Given the description of an element on the screen output the (x, y) to click on. 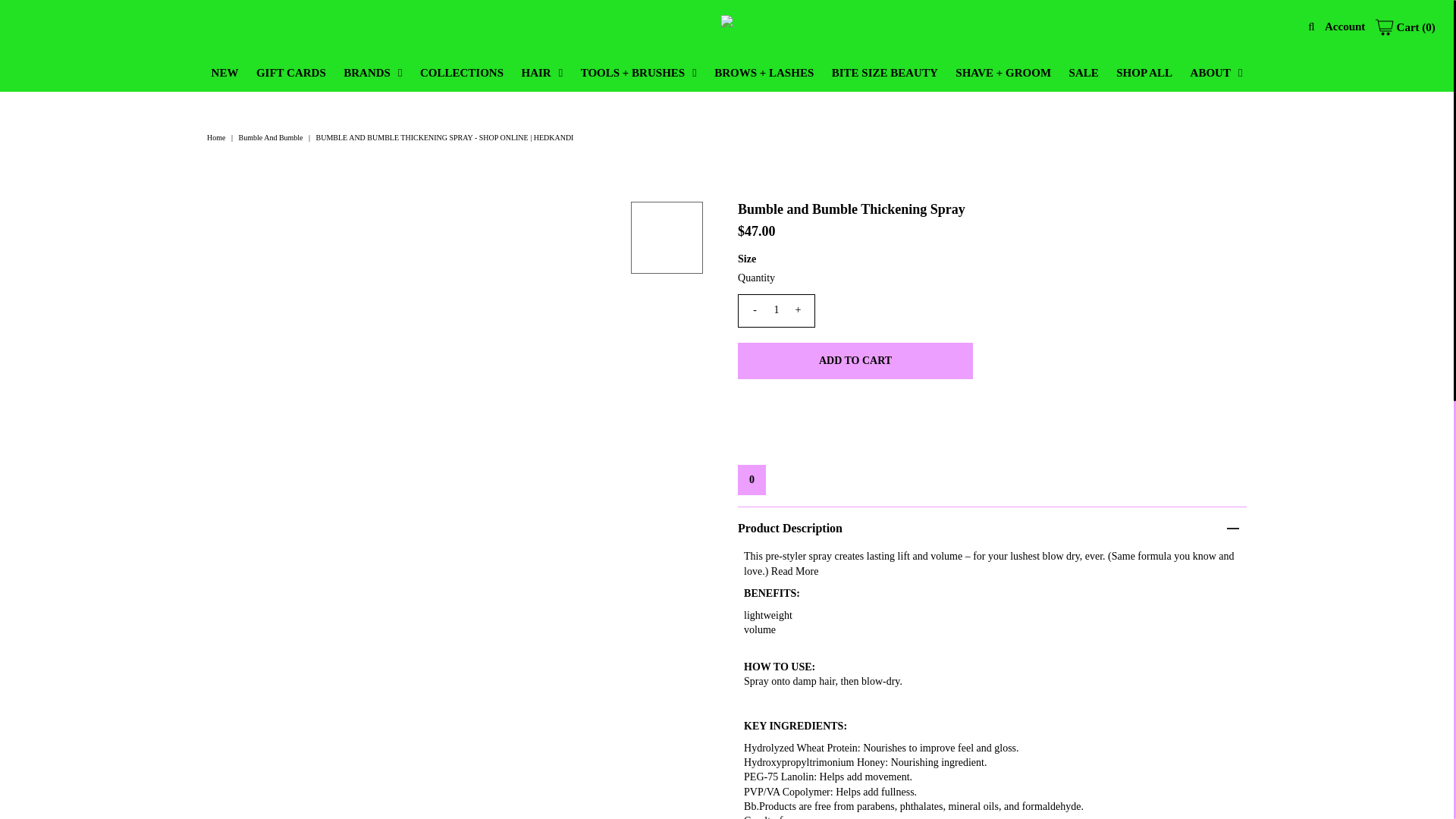
Add to Cart (855, 361)
0 (751, 480)
Home (217, 137)
Add to Wishlist (751, 480)
